Given the description of an element on the screen output the (x, y) to click on. 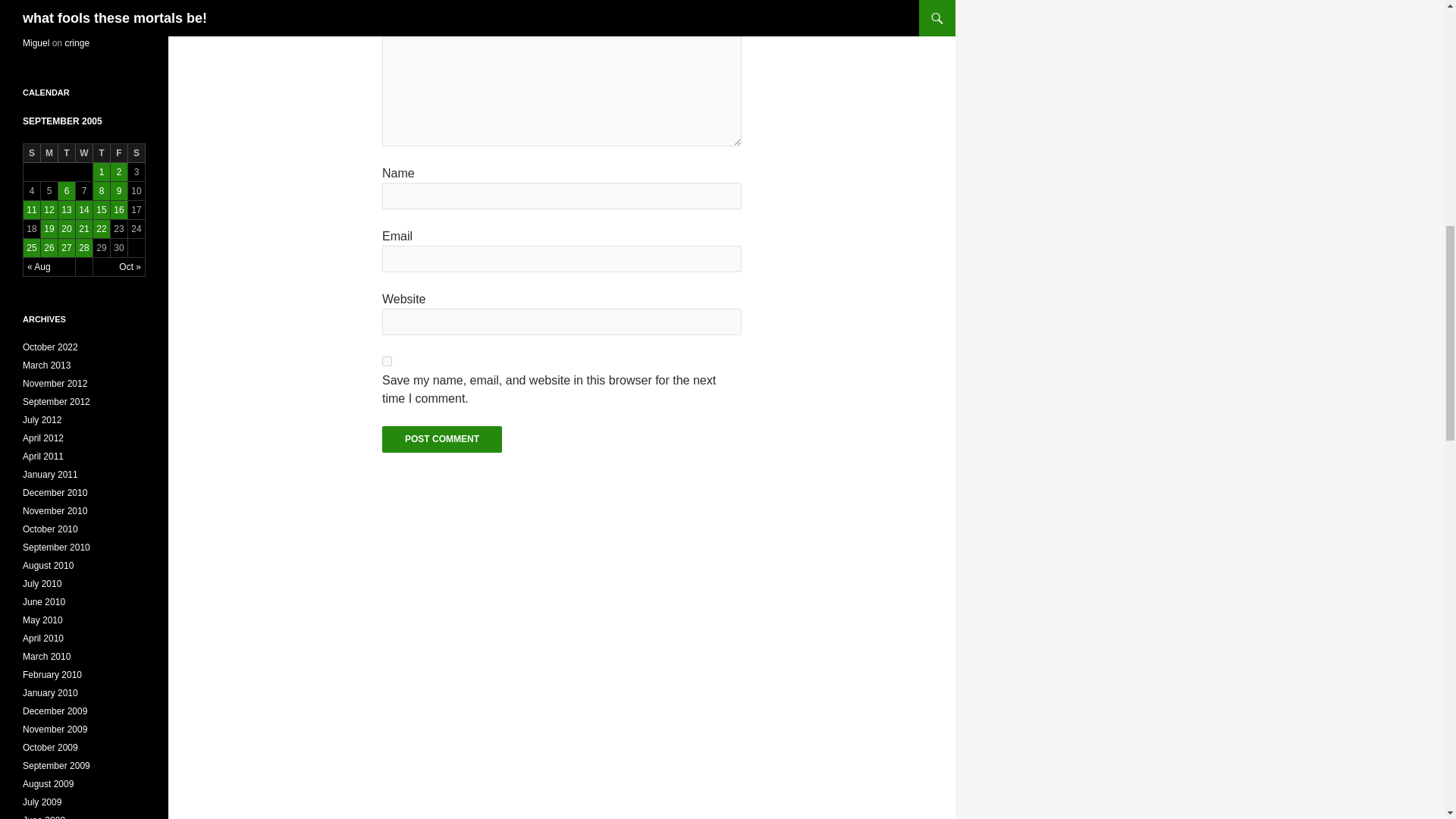
Wednesday (84, 153)
Saturday (136, 153)
yes (386, 361)
Tuesday (66, 153)
Friday (119, 153)
Post Comment (441, 438)
Post Comment (441, 438)
Monday (49, 153)
abortion clinic Sanford fl (71, 10)
Thursday (101, 153)
Sunday (31, 153)
